Given the description of an element on the screen output the (x, y) to click on. 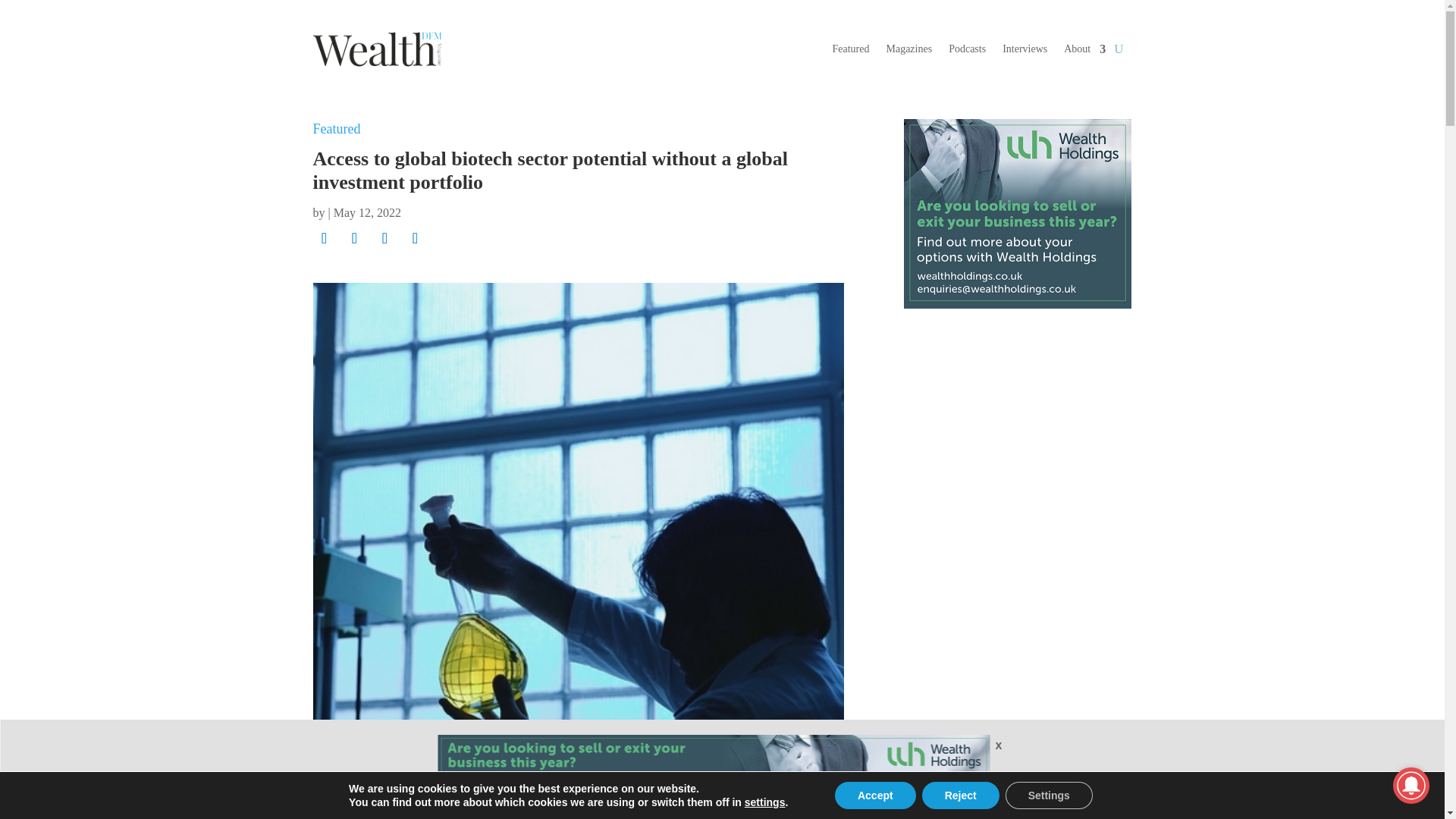
Featured (336, 128)
